Given the description of an element on the screen output the (x, y) to click on. 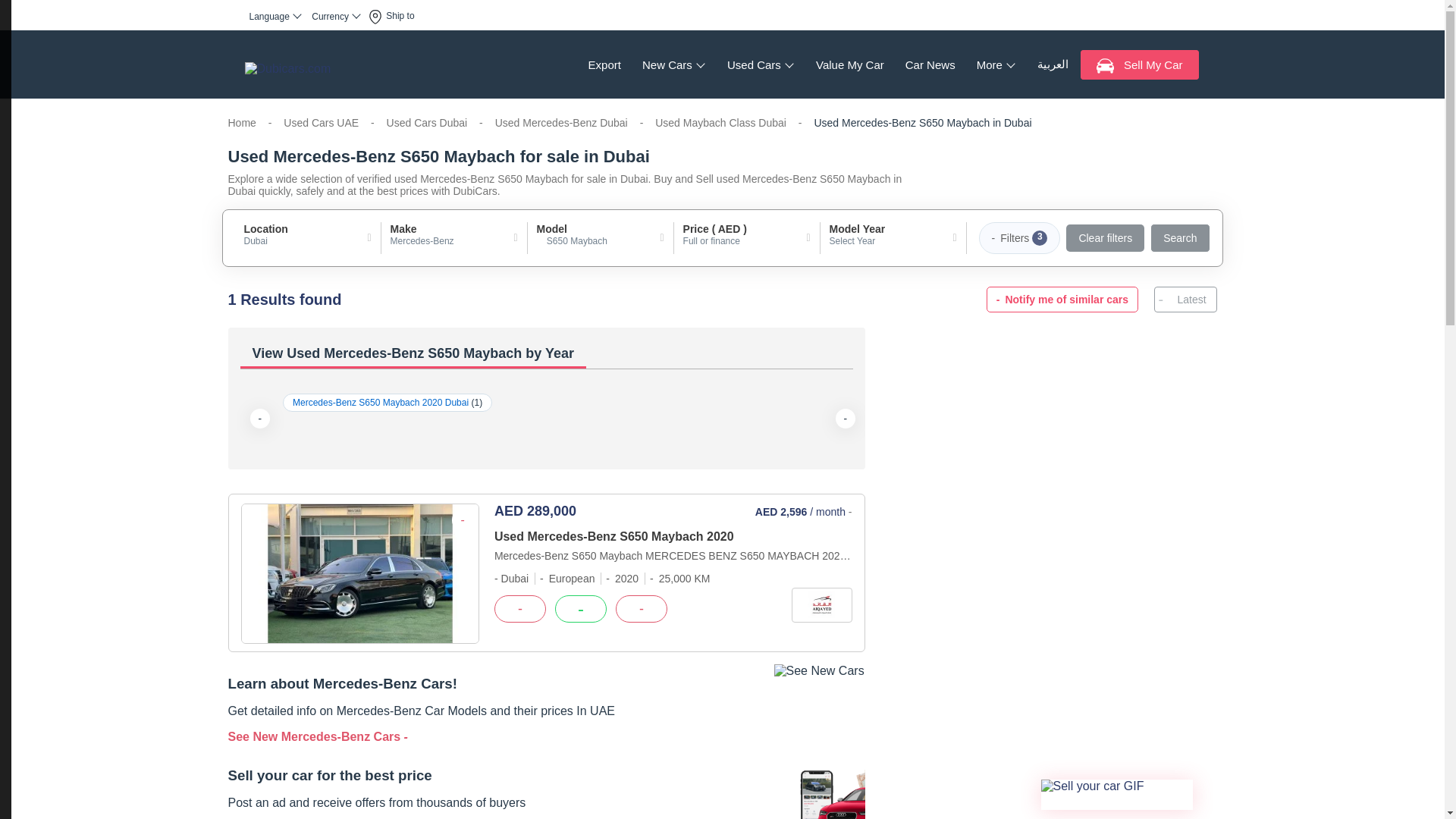
View Used Mercedes-Benz S650 Maybach by Year (545, 355)
New Cars (673, 63)
Used Cars (760, 63)
Currency (336, 15)
Car News (929, 63)
Sell My Car (1139, 64)
Language (275, 15)
Value My Car (849, 63)
